Given the description of an element on the screen output the (x, y) to click on. 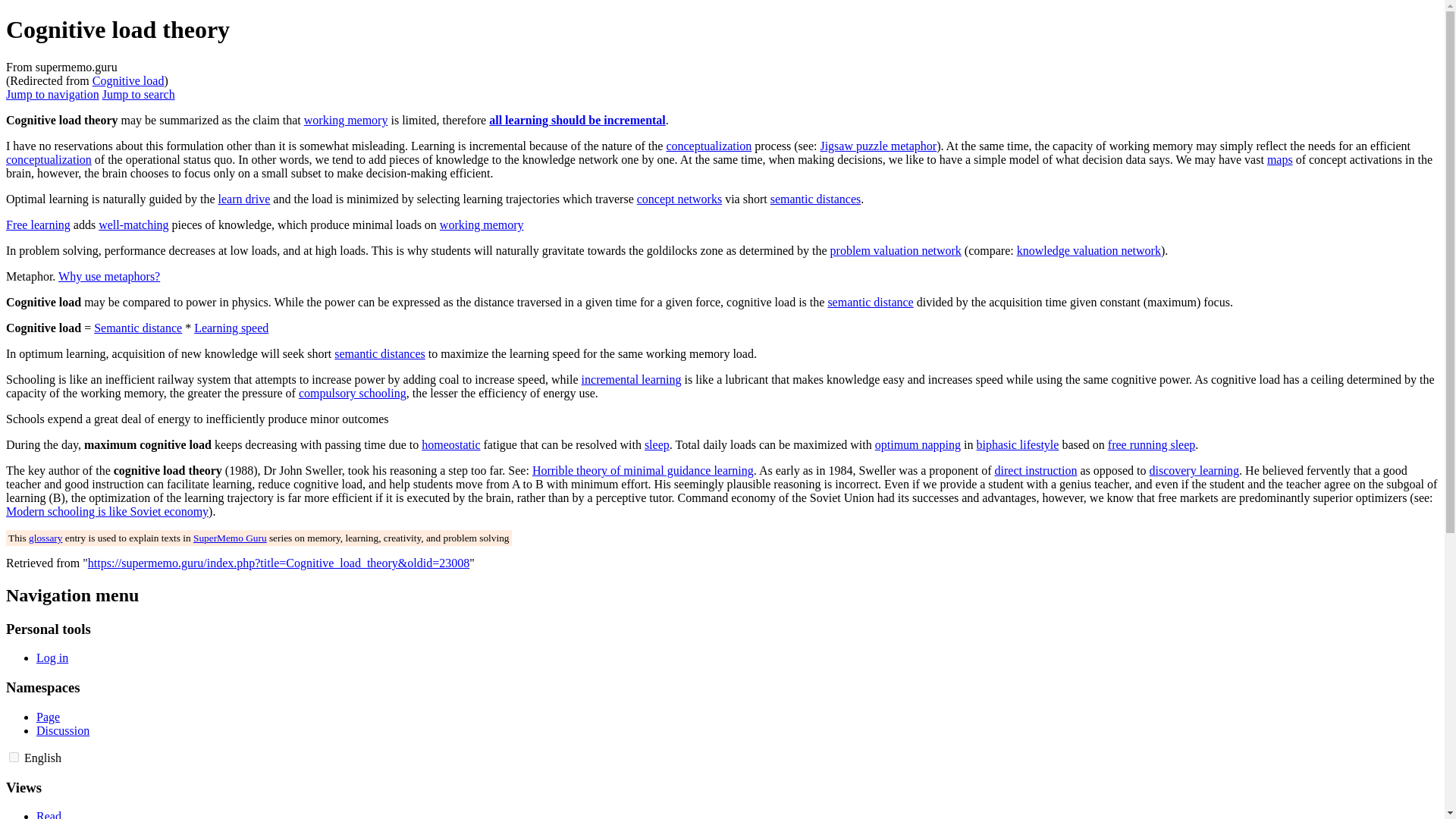
Semantic distance (138, 327)
semantic distances (379, 353)
Discussion (62, 730)
Jigsaw puzzle metaphor (877, 145)
conceptualization (48, 159)
homeostatic (451, 444)
Page (47, 716)
Concept network (679, 198)
Free learning (37, 224)
Cognitive load (128, 80)
discovery learning (1193, 470)
biphasic lifestyle (1017, 444)
concept networks (679, 198)
Conceptualization (48, 159)
Working memory (346, 119)
